Given the description of an element on the screen output the (x, y) to click on. 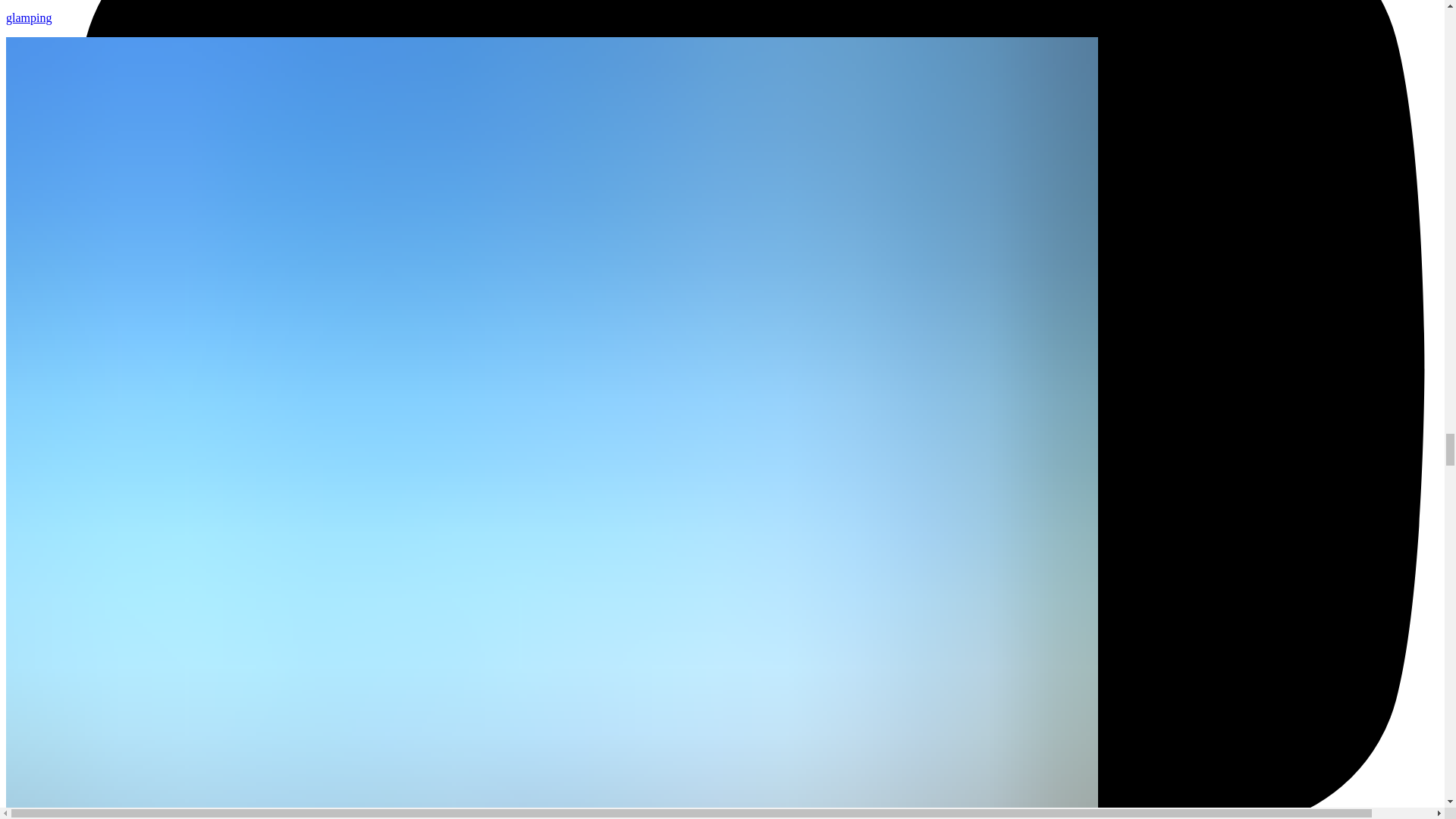
glamping (721, 12)
